Given the description of an element on the screen output the (x, y) to click on. 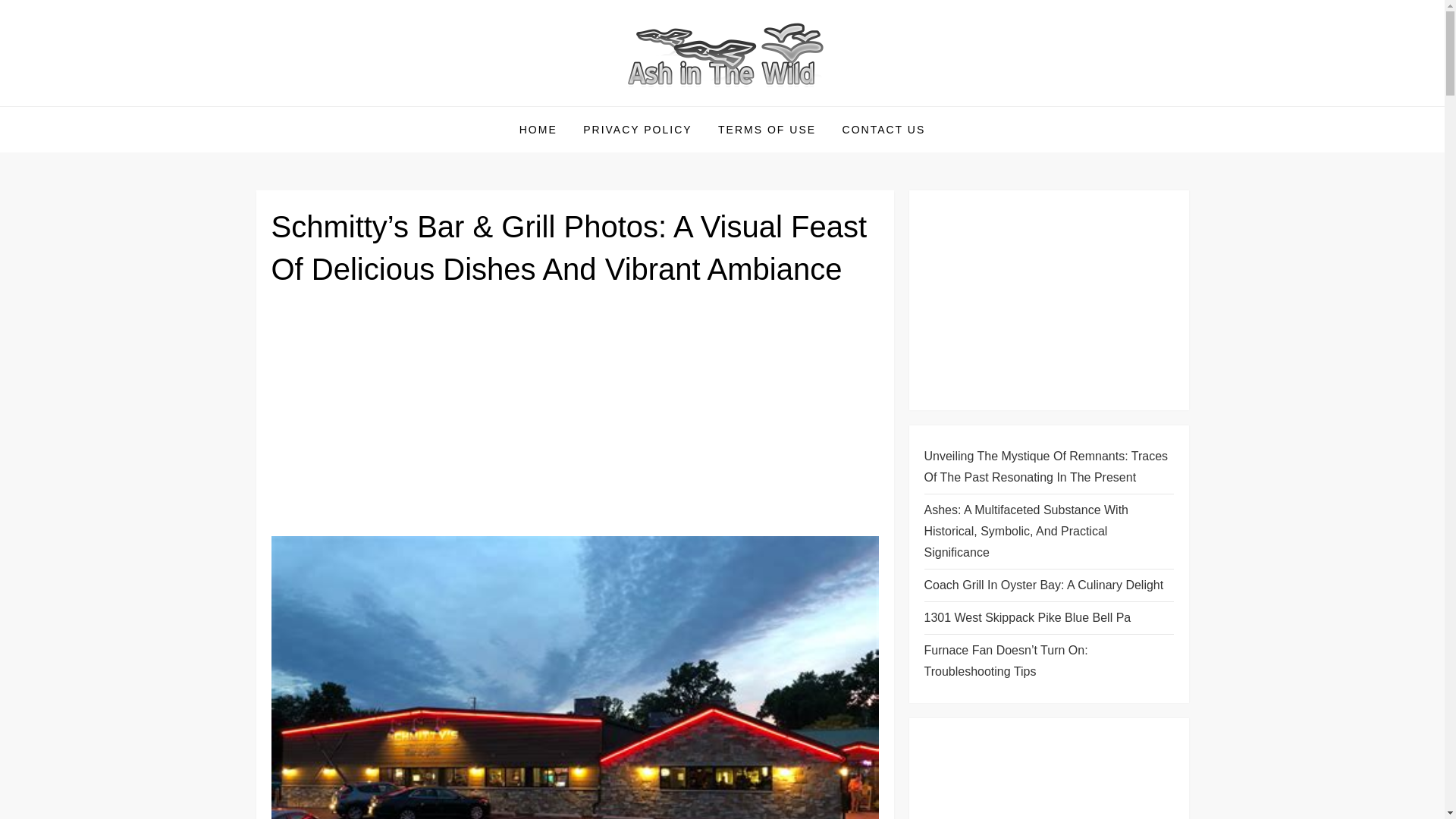
CONTACT US (884, 129)
Advertisement (1048, 299)
Ash in The Wild (361, 105)
TERMS OF USE (766, 129)
PRIVACY POLICY (637, 129)
HOME (538, 129)
Advertisement (1048, 776)
Coach Grill In Oyster Bay: A Culinary Delight (1043, 585)
1301 West Skippack Pike Blue Bell Pa (1027, 617)
Advertisement (574, 418)
